Given the description of an element on the screen output the (x, y) to click on. 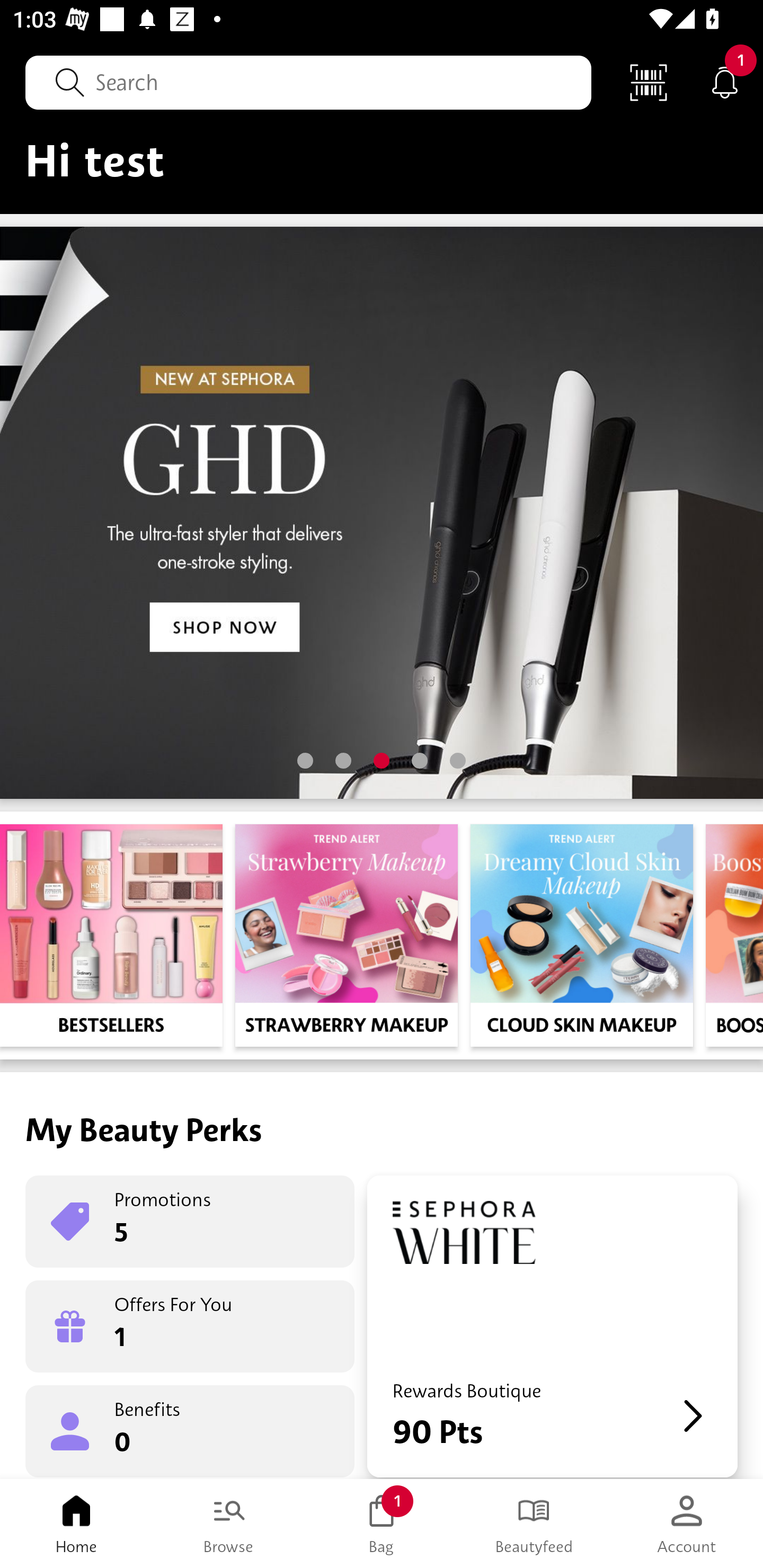
Scan Code (648, 81)
Notifications (724, 81)
Search (308, 81)
Promotions 5 (189, 1221)
Rewards Boutique 90 Pts (552, 1326)
Offers For You 1 (189, 1326)
Benefits 0 (189, 1430)
Browse (228, 1523)
Bag 1 Bag (381, 1523)
Beautyfeed (533, 1523)
Account (686, 1523)
